Given the description of an element on the screen output the (x, y) to click on. 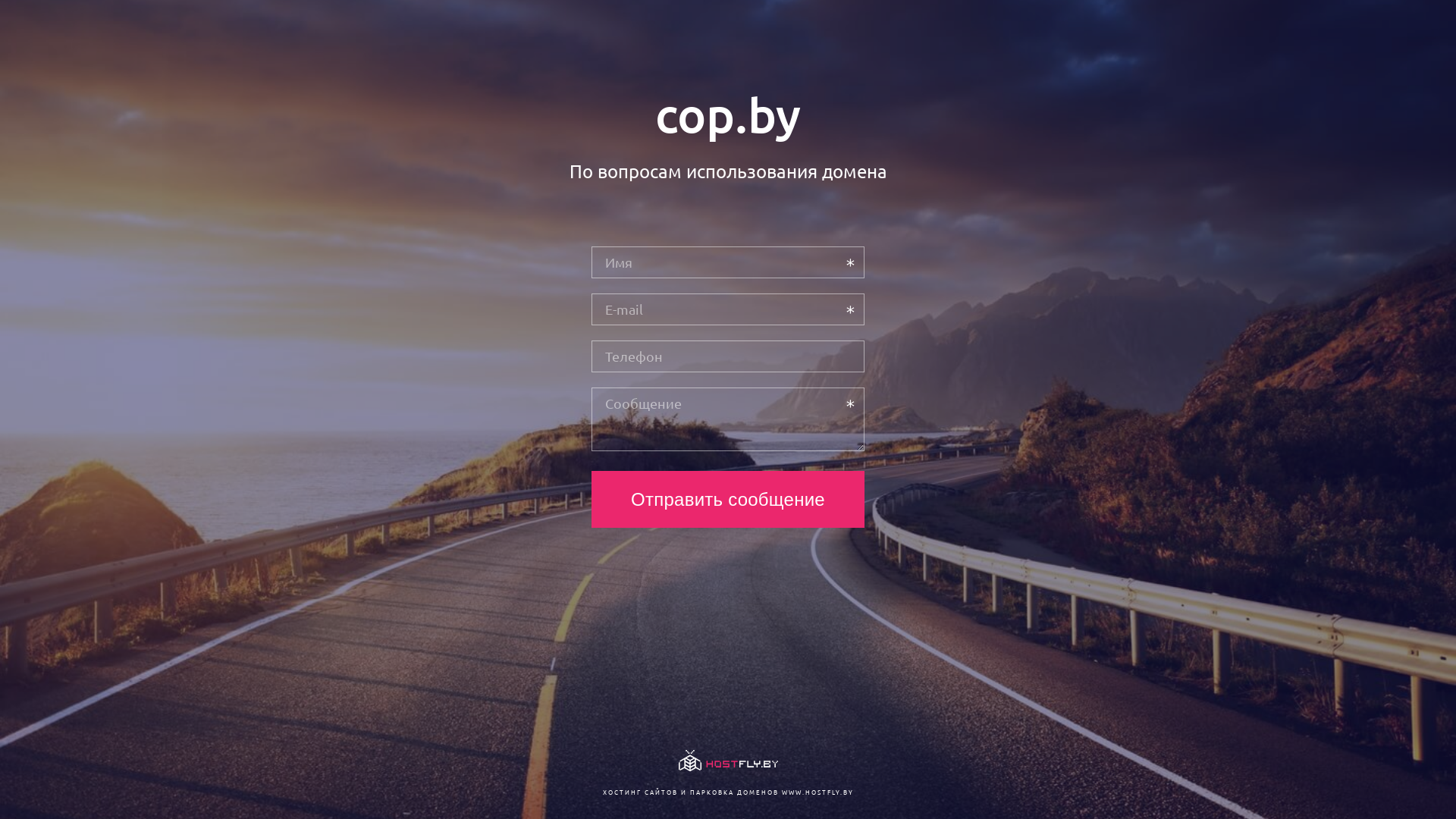
WWW.HOSTFLY.BY Element type: text (817, 791)
